Given the description of an element on the screen output the (x, y) to click on. 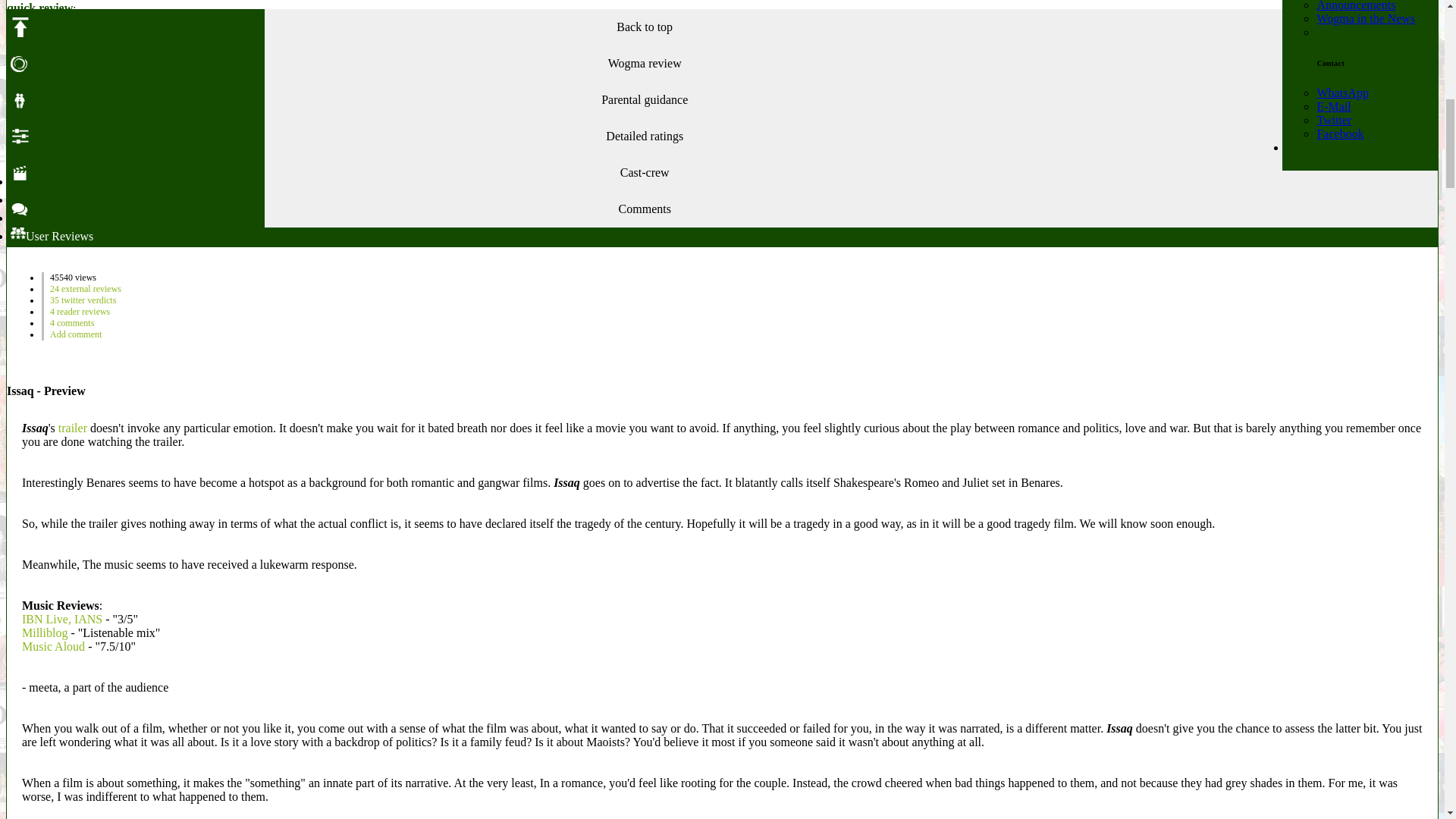
Ravi Kissen (235, 83)
Rajeshwari Sachdev (156, 83)
wogma in media (1365, 18)
Manish Tiwary (92, 70)
Amyra Dastur (300, 83)
Prateik Babbar (70, 83)
Advertisement (721, 358)
Listing for Politics (67, 111)
Advertisement (644, 144)
Listing for Romance (111, 111)
